Given the description of an element on the screen output the (x, y) to click on. 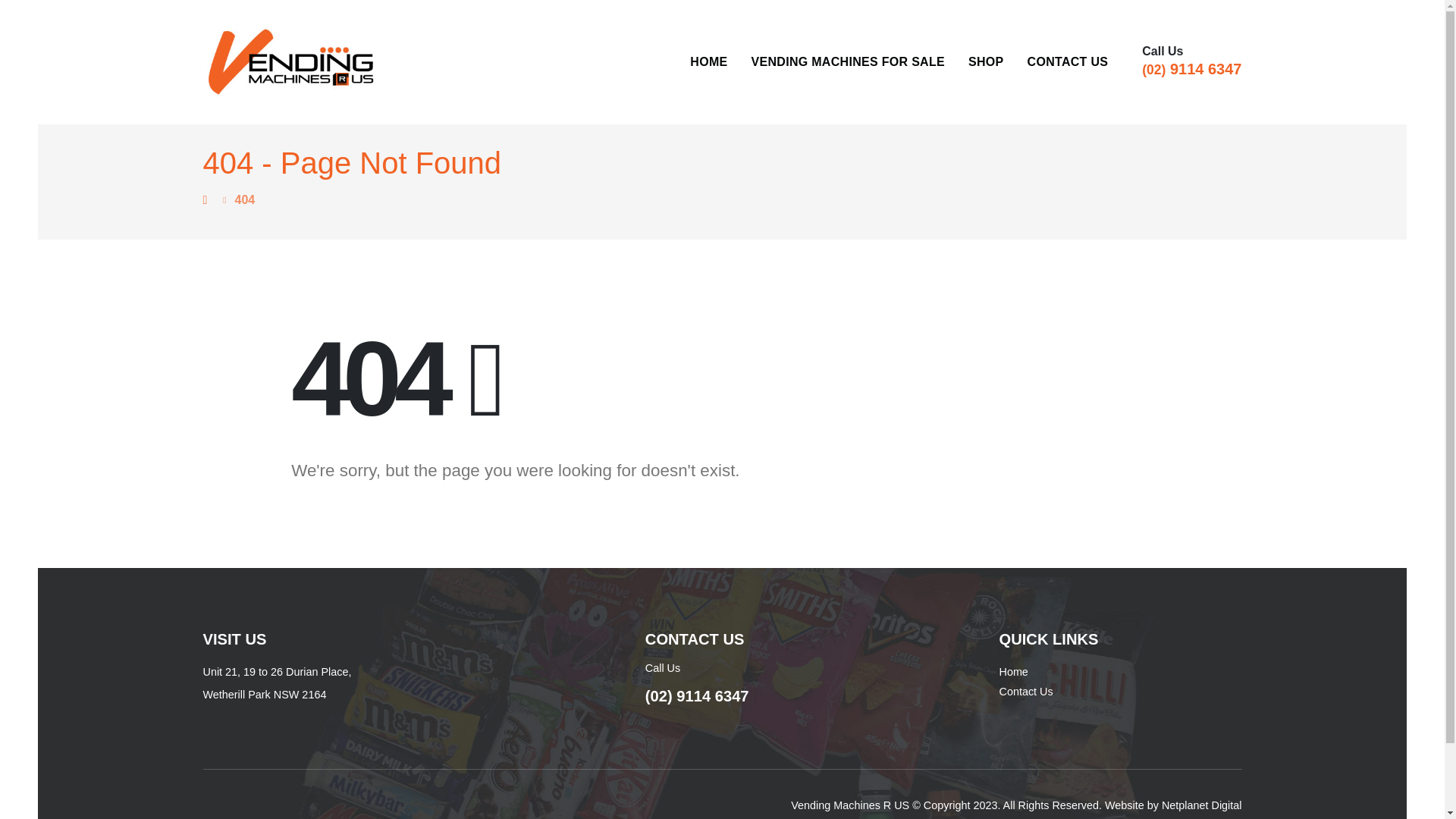
Home (1012, 671)
Netplanet Digital (1201, 805)
CONTACT US (1067, 61)
Contact Us (1025, 691)
VENDING MACHINES FOR SALE (847, 61)
